Given the description of an element on the screen output the (x, y) to click on. 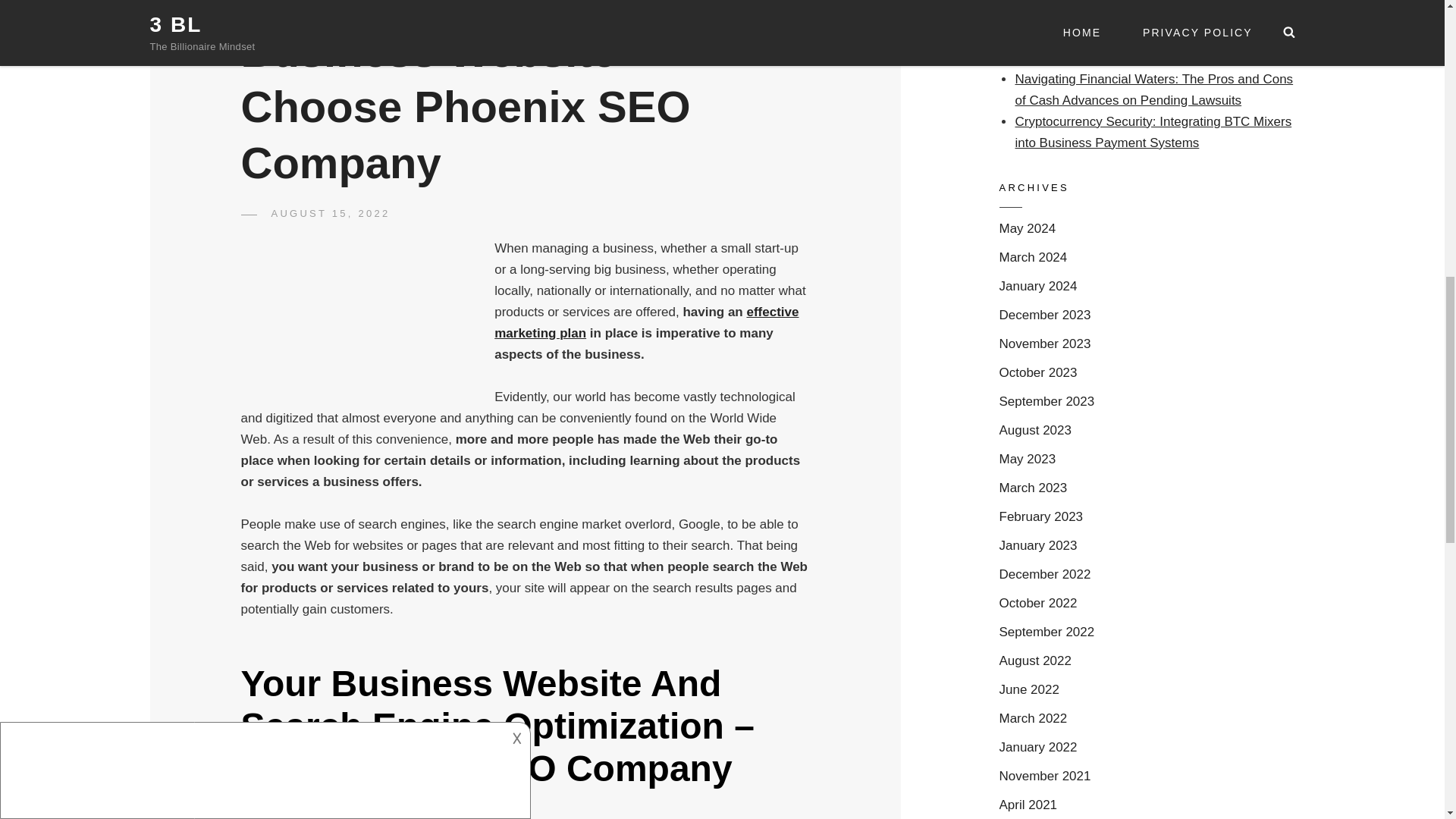
March 2022 (1032, 718)
October 2023 (1037, 373)
September 2022 (1046, 631)
October 2022 (1037, 603)
August 2022 (1034, 660)
effective marketing plan (646, 322)
December 2023 (1044, 314)
March 2023 (1032, 487)
March 2024 (1032, 257)
November 2023 (1044, 343)
May 2023 (1027, 459)
June 2022 (1028, 690)
Strategic Growth Plan For A Business (646, 322)
